Given the description of an element on the screen output the (x, y) to click on. 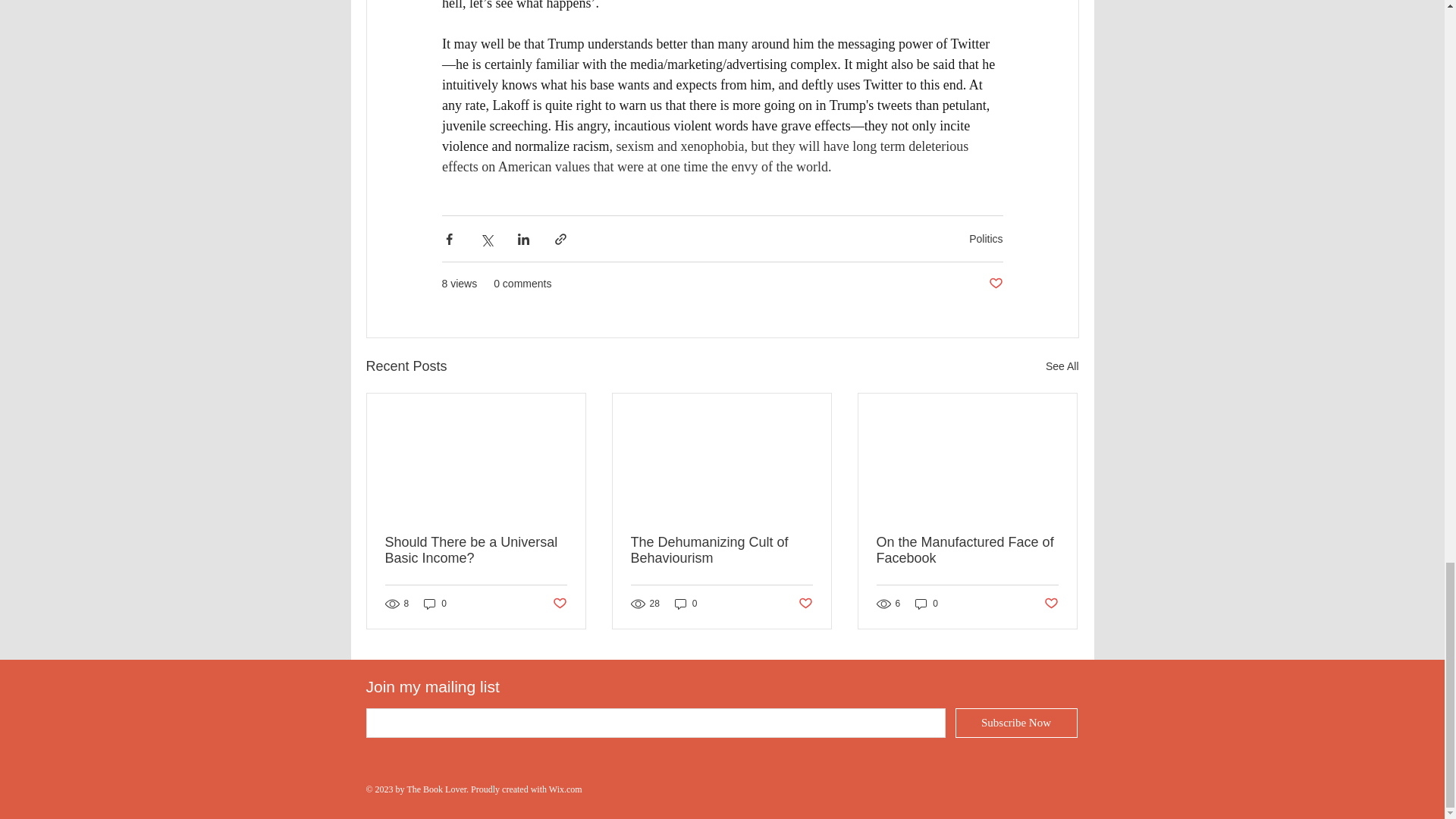
On the Manufactured Face of Facebook (967, 550)
Should There be a Universal Basic Income? (476, 550)
Post not marked as liked (995, 283)
0 (926, 603)
The Dehumanizing Cult of Behaviourism (721, 550)
Post not marked as liked (558, 602)
0 (685, 603)
0 (435, 603)
See All (1061, 366)
Subscribe Now (1016, 722)
Politics (986, 238)
Post not marked as liked (804, 602)
Wix.com (565, 788)
Post not marked as liked (1050, 602)
